Given the description of an element on the screen output the (x, y) to click on. 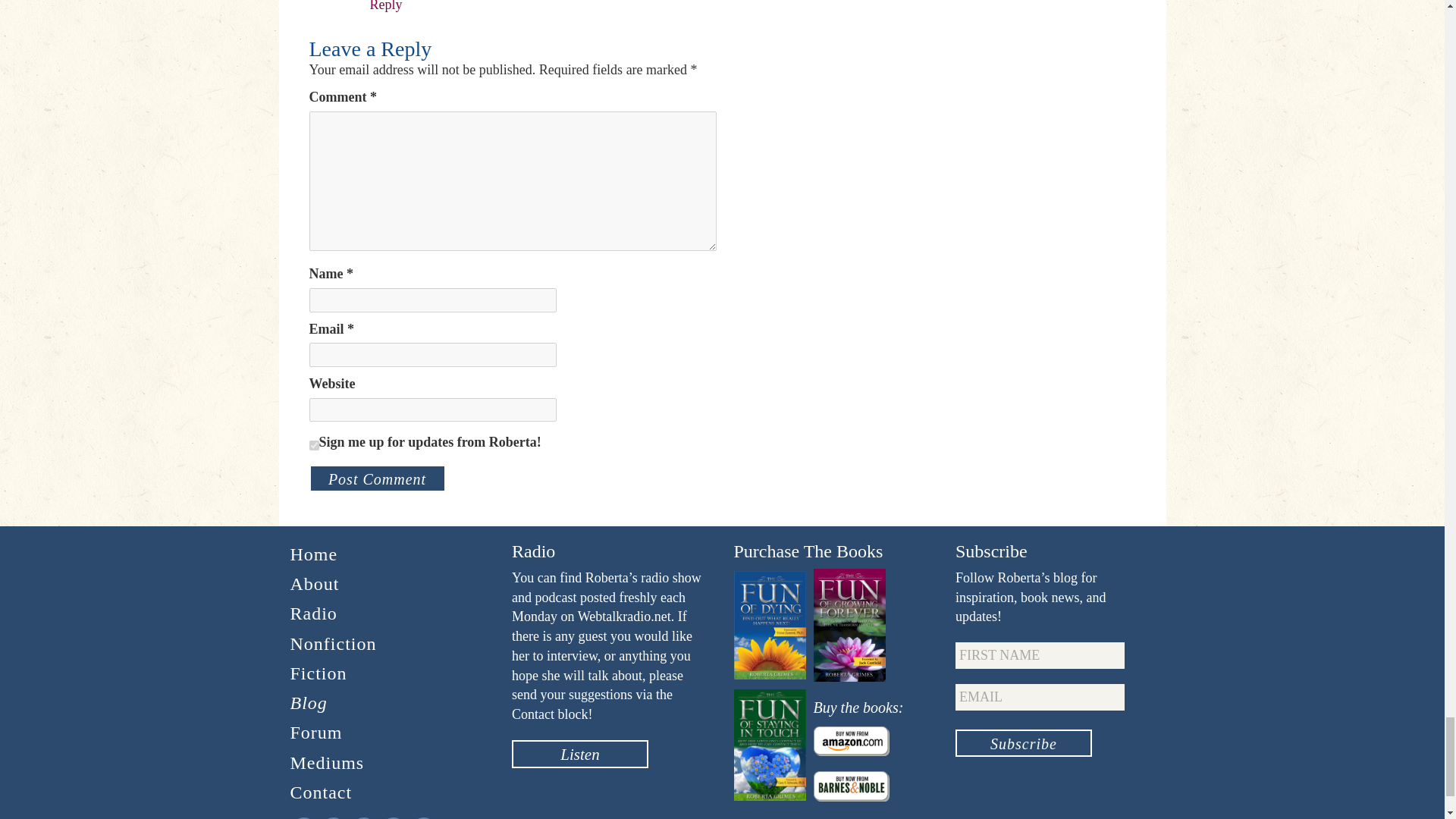
Subscribe (1023, 742)
Post Comment (376, 478)
1 (313, 445)
